Given the description of an element on the screen output the (x, y) to click on. 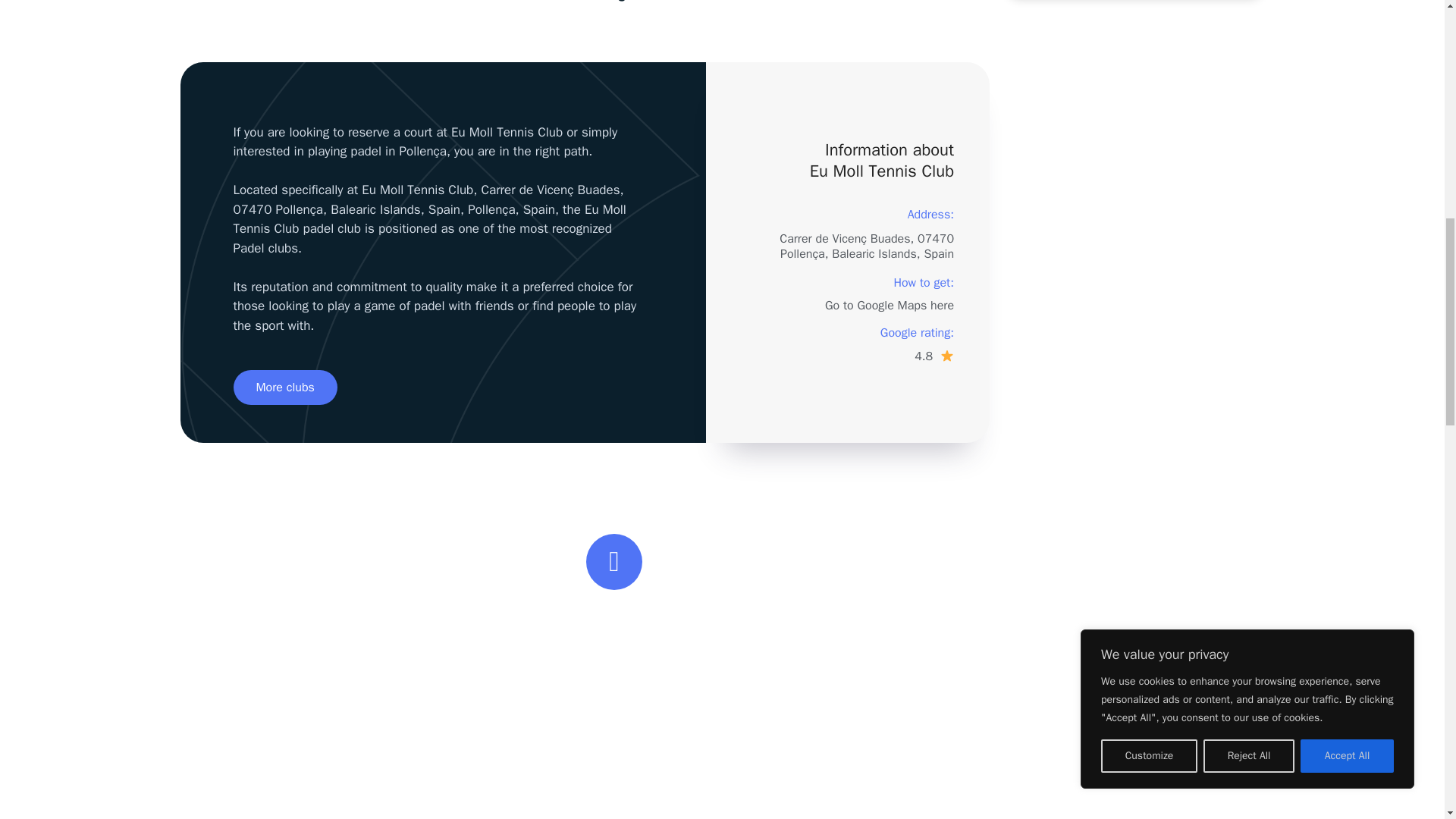
Go to Google Maps here (889, 305)
More clubs (284, 387)
